Given the description of an element on the screen output the (x, y) to click on. 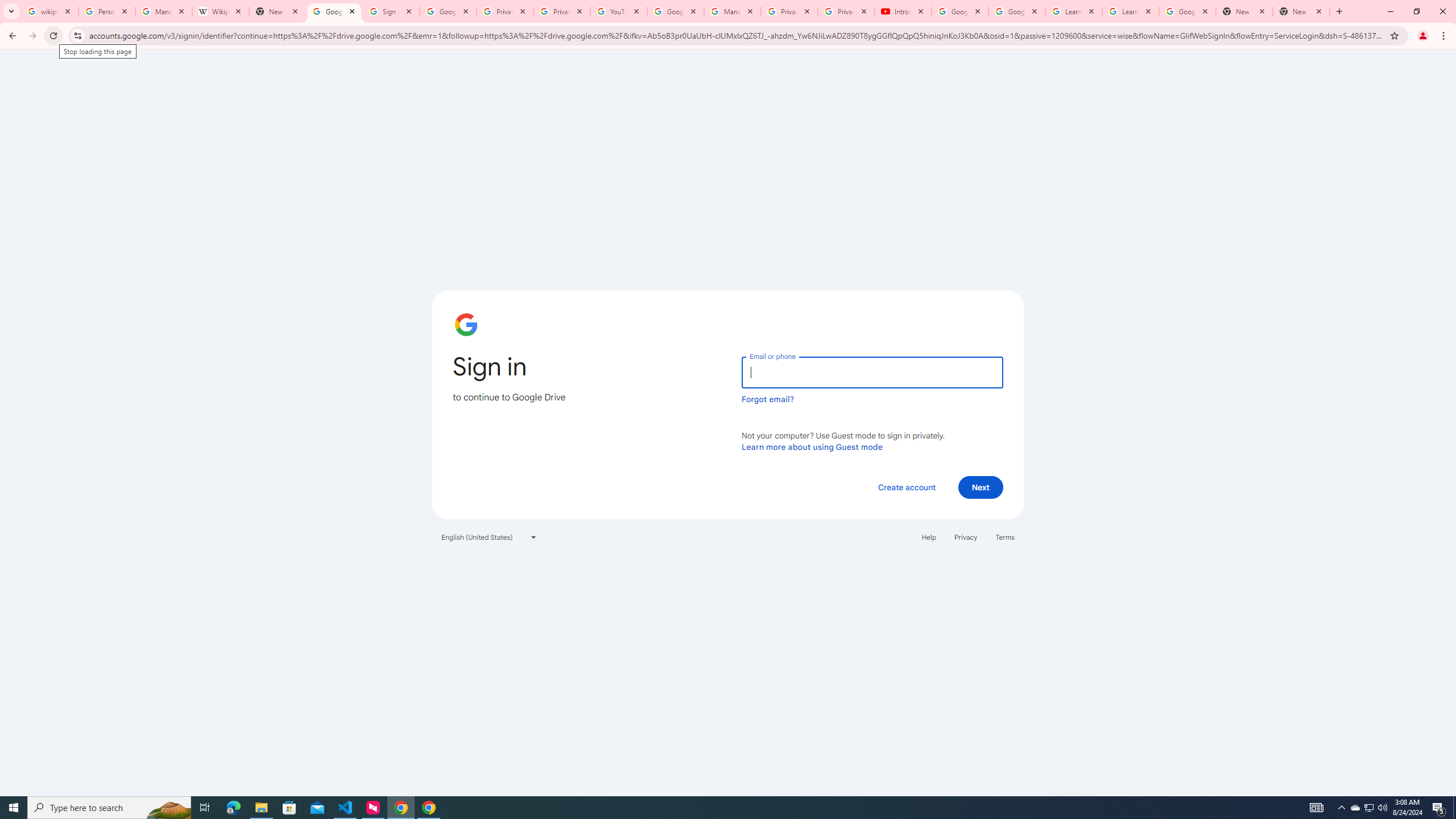
Help (928, 536)
Google Account Help (959, 11)
New Tab (1301, 11)
Google Account (1187, 11)
Introduction | Google Privacy Policy - YouTube (902, 11)
Google Account Help (675, 11)
